Given the description of an element on the screen output the (x, y) to click on. 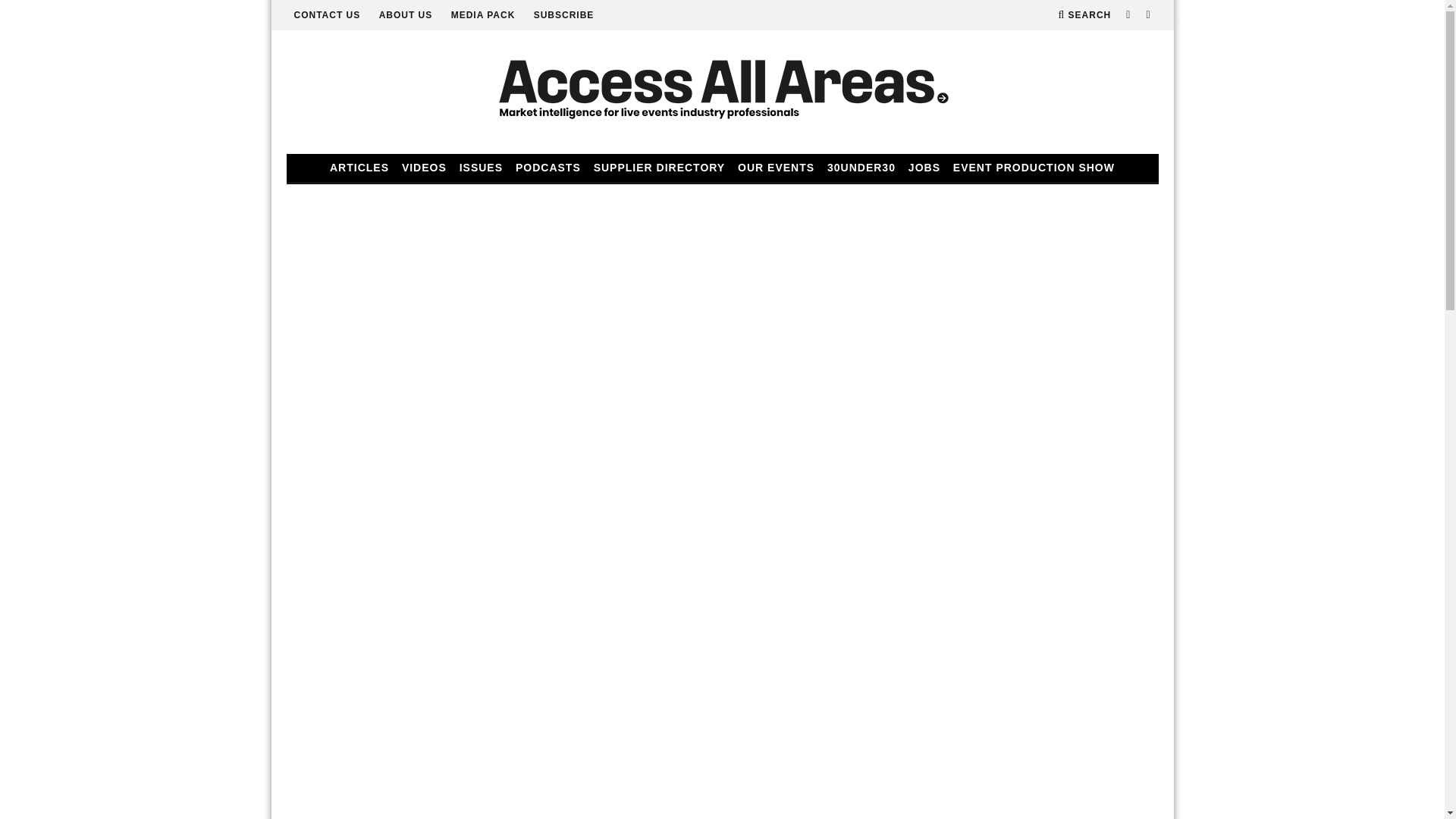
Log In (721, 413)
MEDIA PACK (483, 15)
Search (1084, 15)
SUBSCRIBE (564, 15)
ARTICLES (358, 167)
SEARCH (1084, 15)
VIDEOS (424, 167)
ABOUT US (405, 15)
CONTACT US (327, 15)
